Given the description of an element on the screen output the (x, y) to click on. 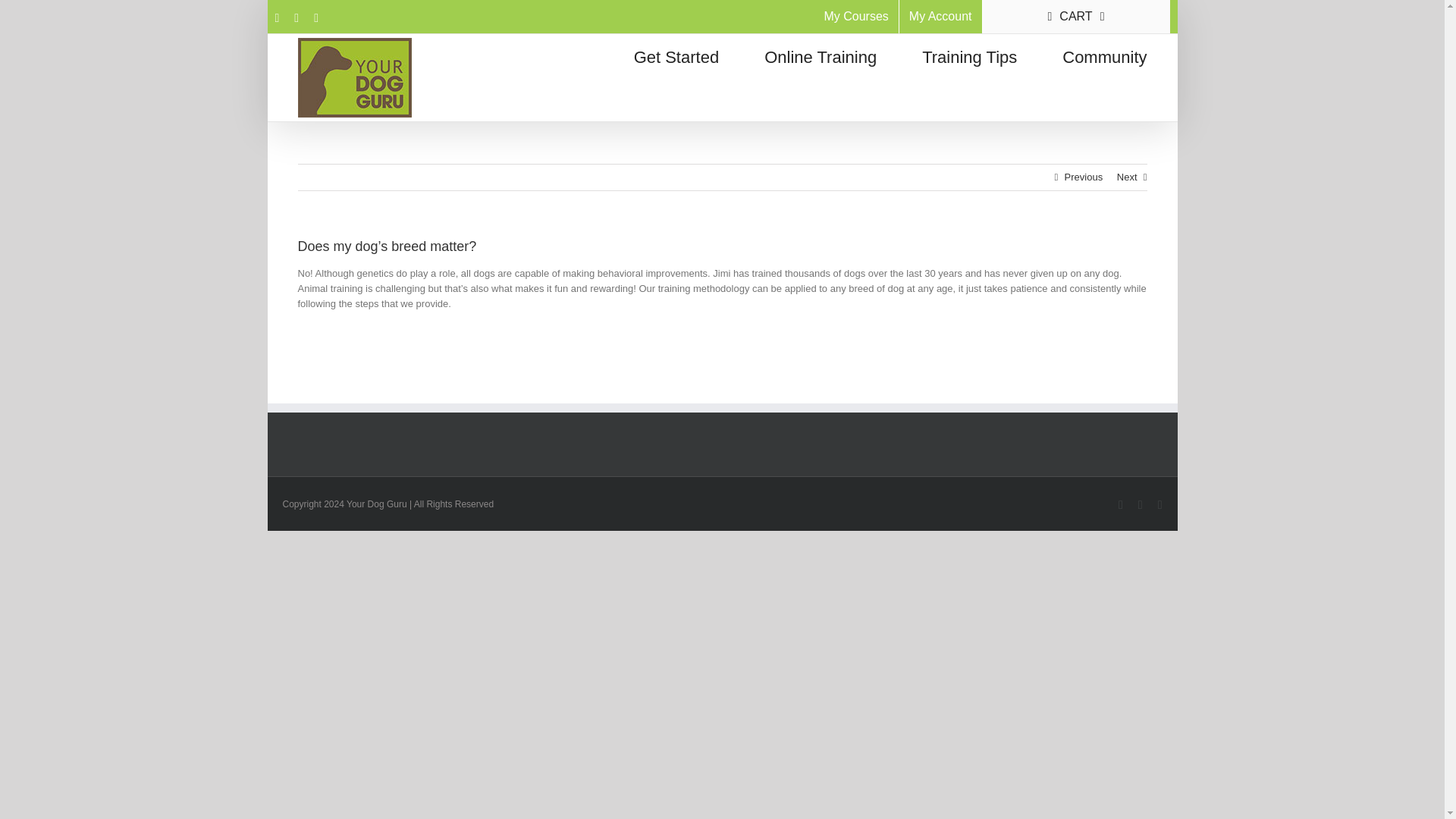
CART (1076, 16)
Community (1104, 53)
Training Tips (968, 53)
Online Training (820, 53)
My Account (940, 16)
Log In (1039, 144)
My Courses (855, 16)
Get Started (676, 53)
